Given the description of an element on the screen output the (x, y) to click on. 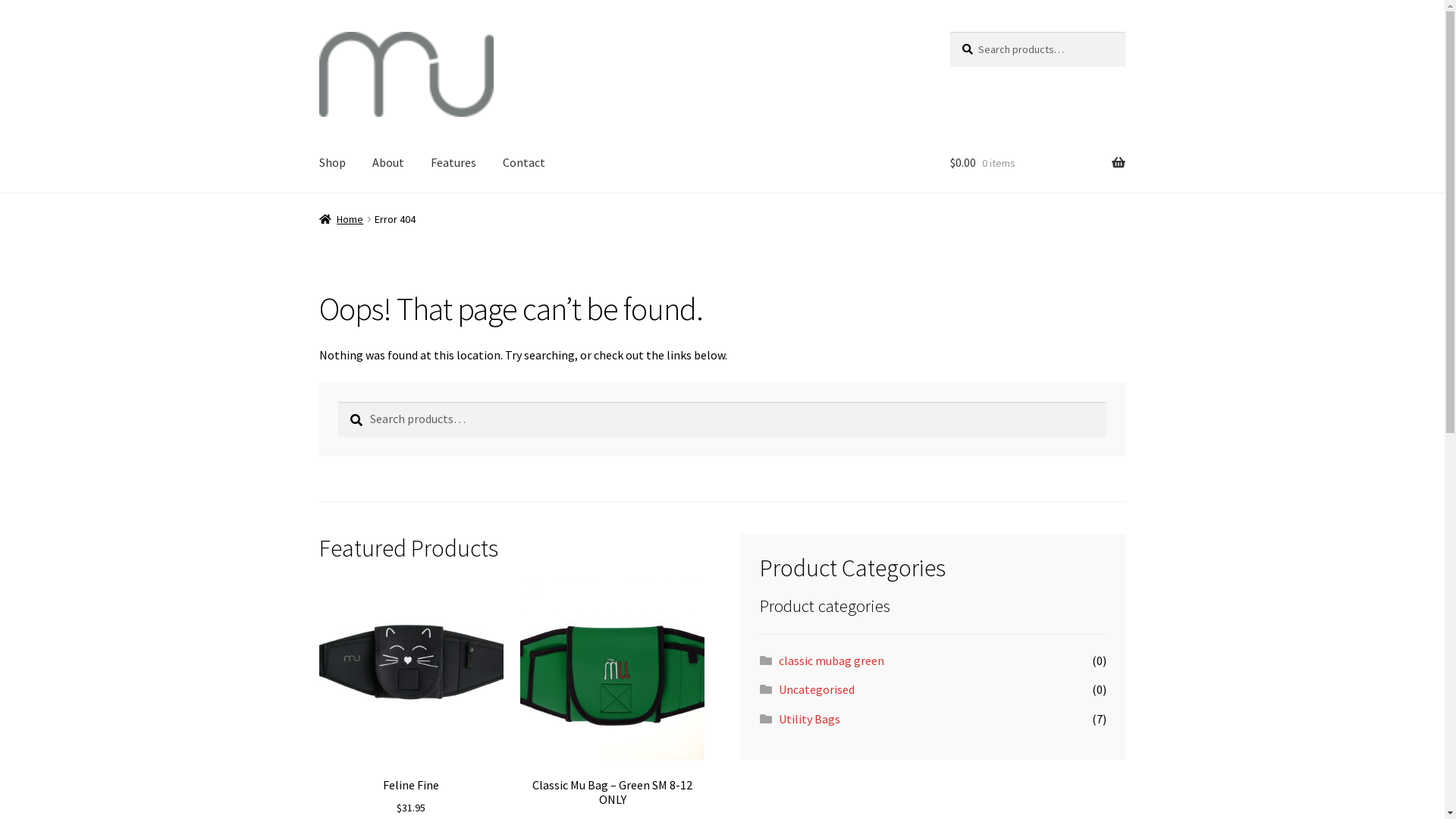
Shop Element type: text (332, 163)
$0.00 0 items Element type: text (1037, 163)
Uncategorised Element type: text (816, 688)
Skip to navigation Element type: text (318, 31)
Feline Fine
$31.95 Element type: text (411, 696)
Search Element type: text (337, 401)
Contact Element type: text (523, 163)
Search Element type: text (949, 31)
Home Element type: text (341, 218)
classic mubag green Element type: text (831, 660)
Utility Bags Element type: text (809, 718)
Features Element type: text (453, 163)
About Element type: text (388, 163)
